Given the description of an element on the screen output the (x, y) to click on. 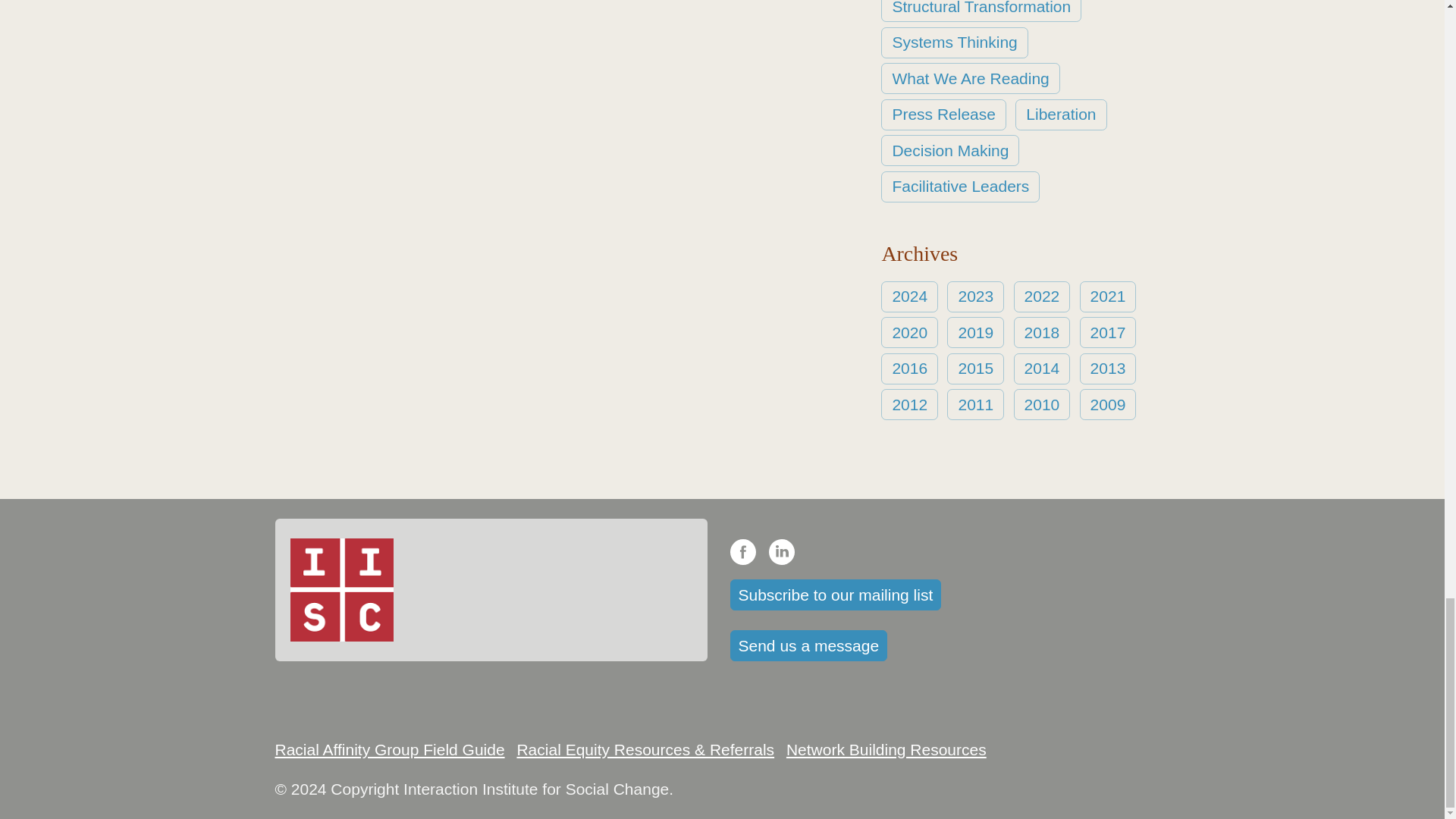
Subscribe to our mailing list (834, 594)
Send us a message (807, 644)
